Given the description of an element on the screen output the (x, y) to click on. 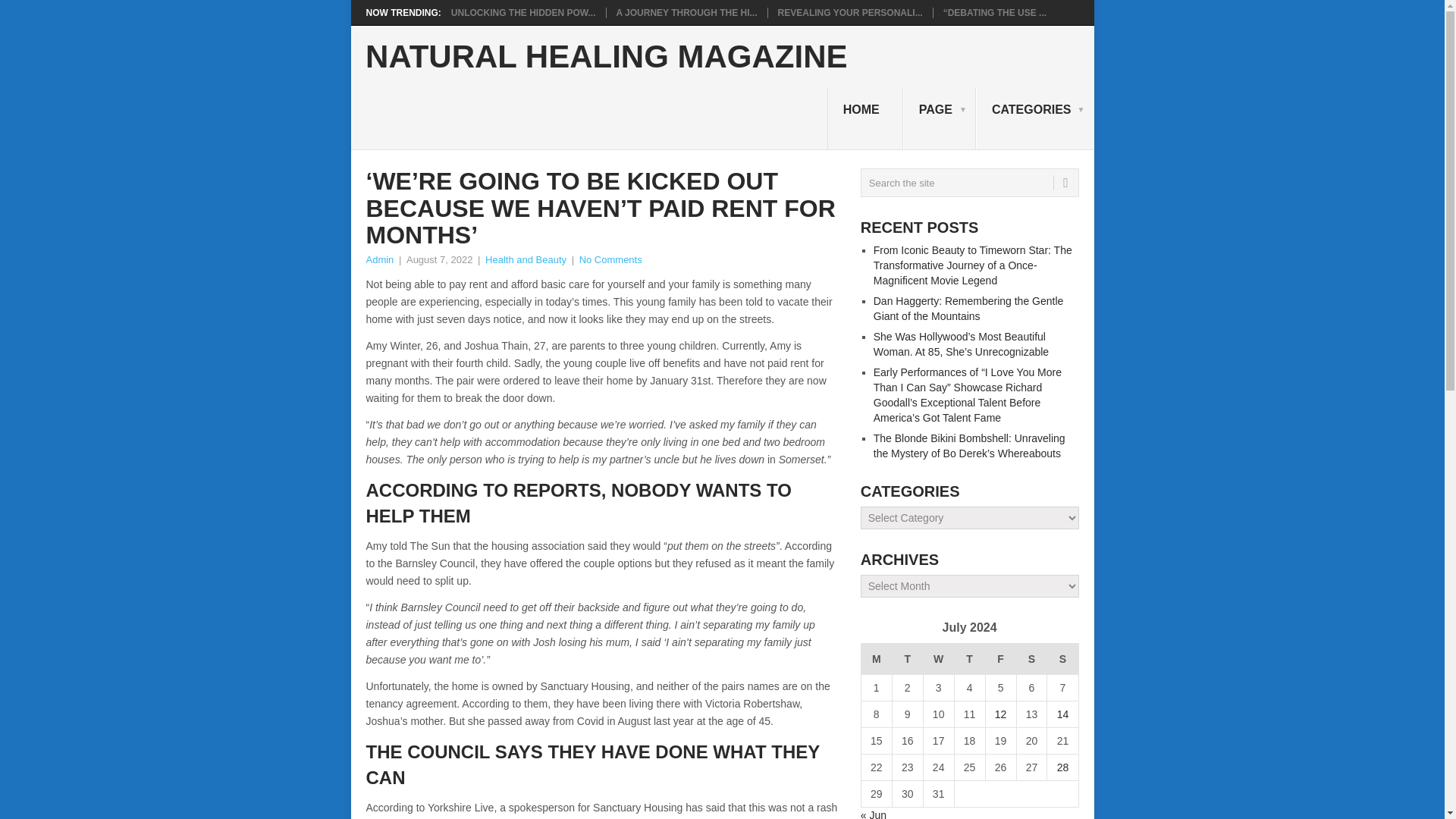
A Journey Through the History of Kitchen Gadgets (686, 12)
Admin (379, 259)
A JOURNEY THROUGH THE HI... (686, 12)
UNLOCKING THE HIDDEN POW... (523, 12)
REVEALING YOUR PERSONALI... (850, 12)
Search the site (969, 182)
Dan Haggerty: Remembering the Gentle Giant of the Mountains (968, 308)
NATURAL HEALING MAGAZINE (606, 56)
14 (1062, 714)
Friday (1000, 658)
12 (1000, 714)
HOME (864, 118)
No Comments (610, 259)
